Given the description of an element on the screen output the (x, y) to click on. 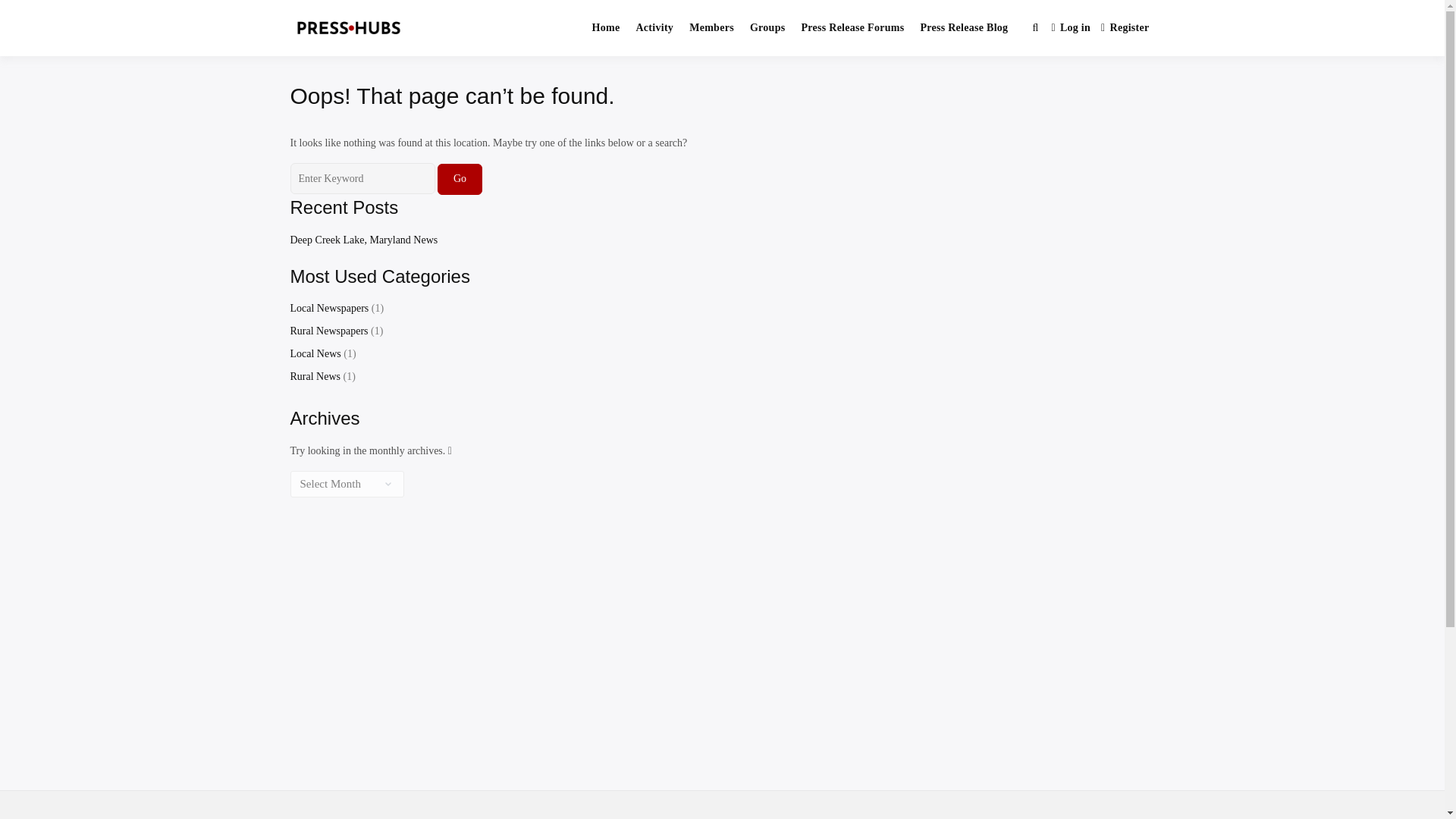
Go (459, 178)
Deep Creek Lake, Maryland News (363, 239)
Log in (1070, 28)
Go (459, 178)
Login (1070, 28)
Members (711, 28)
Local Newspapers (328, 307)
Press Hubs (486, 44)
Press Release Blog (963, 28)
Groups (767, 28)
